Given the description of an element on the screen output the (x, y) to click on. 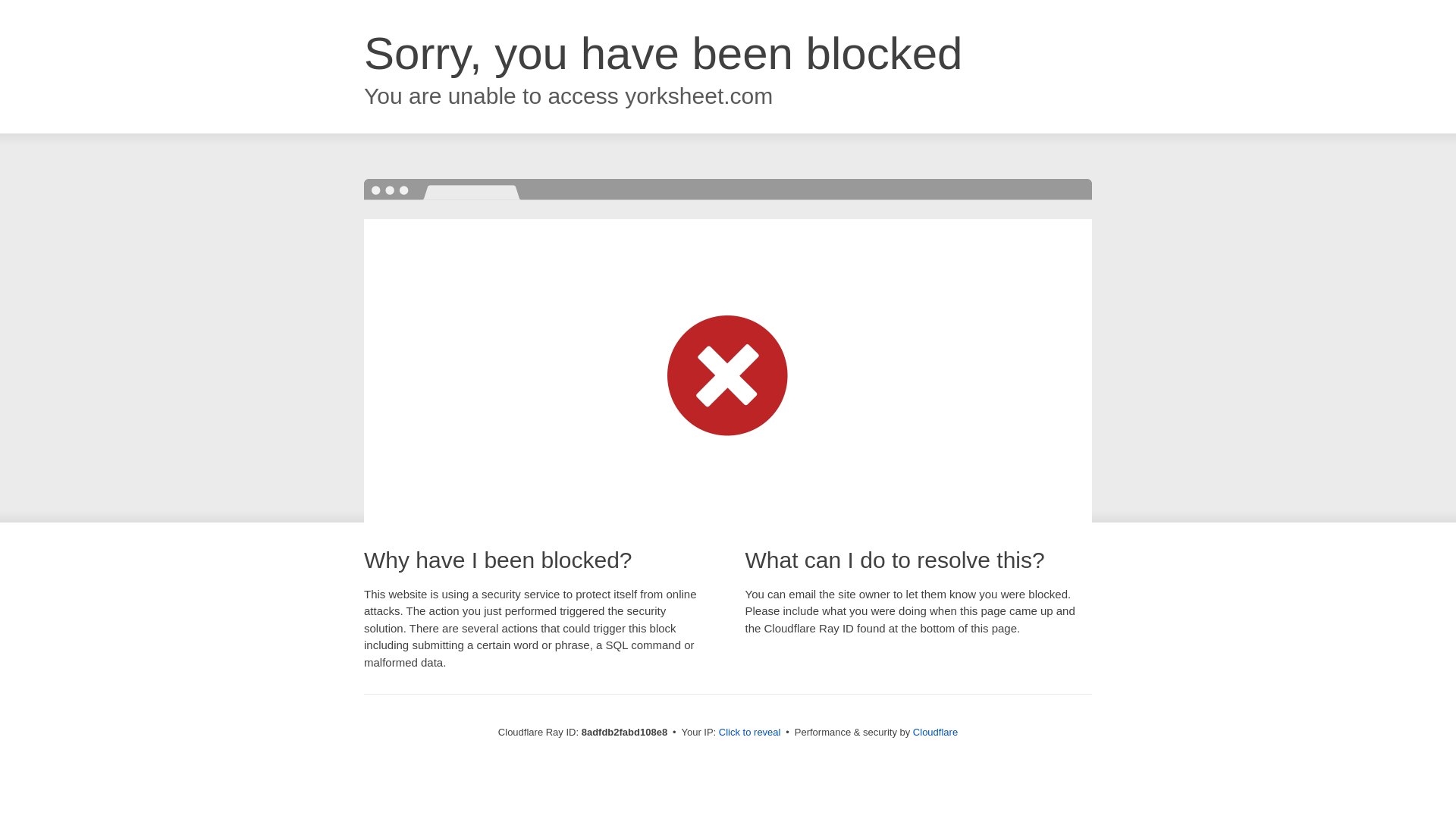
Cloudflare (935, 731)
Click to reveal (749, 732)
